Given the description of an element on the screen output the (x, y) to click on. 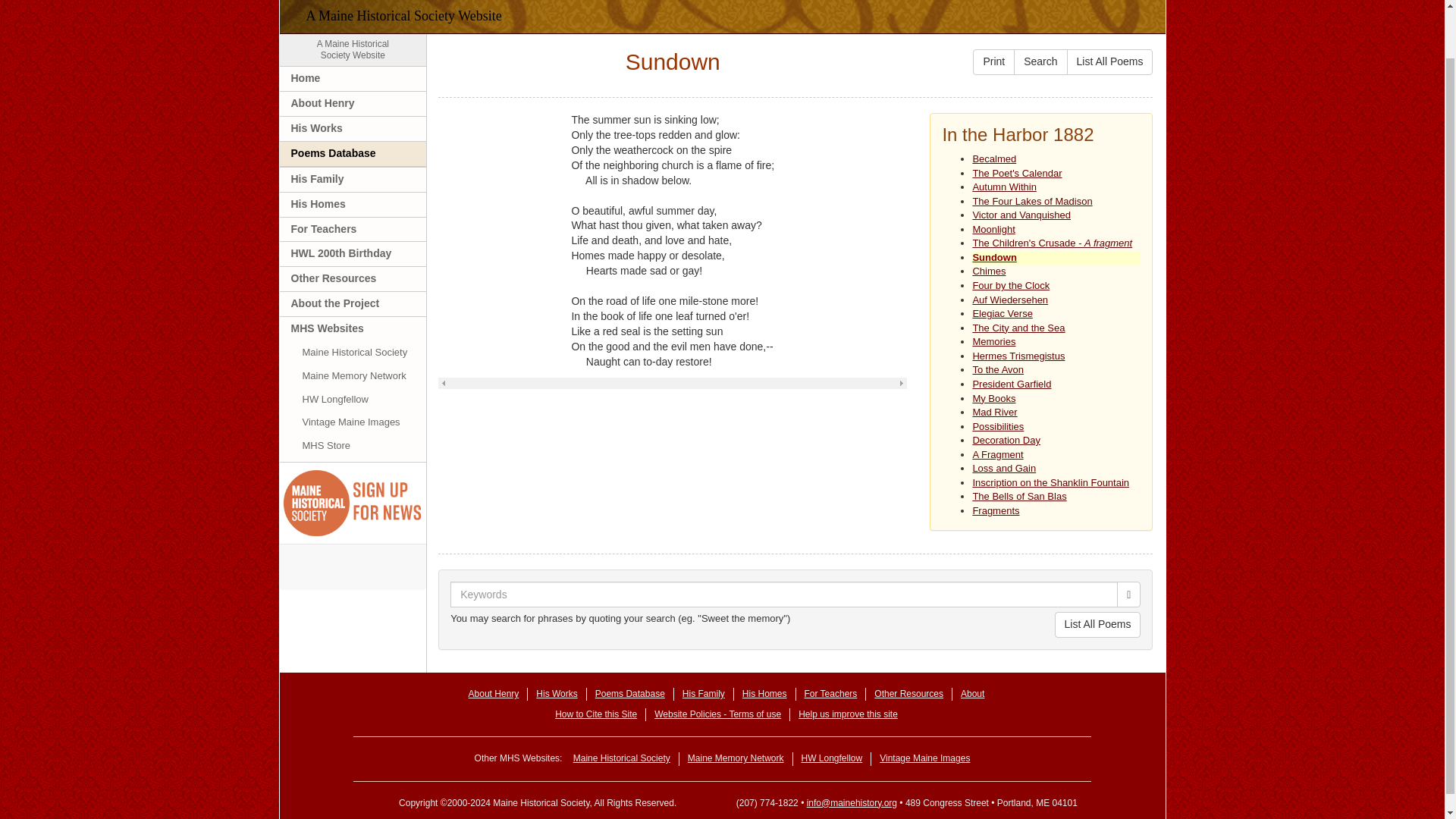
Becalmed (994, 158)
Elegiac Verse (1002, 313)
MHS Store (352, 445)
HW Longfellow (352, 399)
Search (1040, 62)
For Teachers (352, 229)
Sundown (994, 256)
The City and the Sea (1018, 327)
His Works (352, 128)
About Henry (352, 103)
MHS Websites (352, 50)
Auf Wiedersehen (352, 328)
President Garfield (1010, 299)
Chimes (1011, 383)
